Given the description of an element on the screen output the (x, y) to click on. 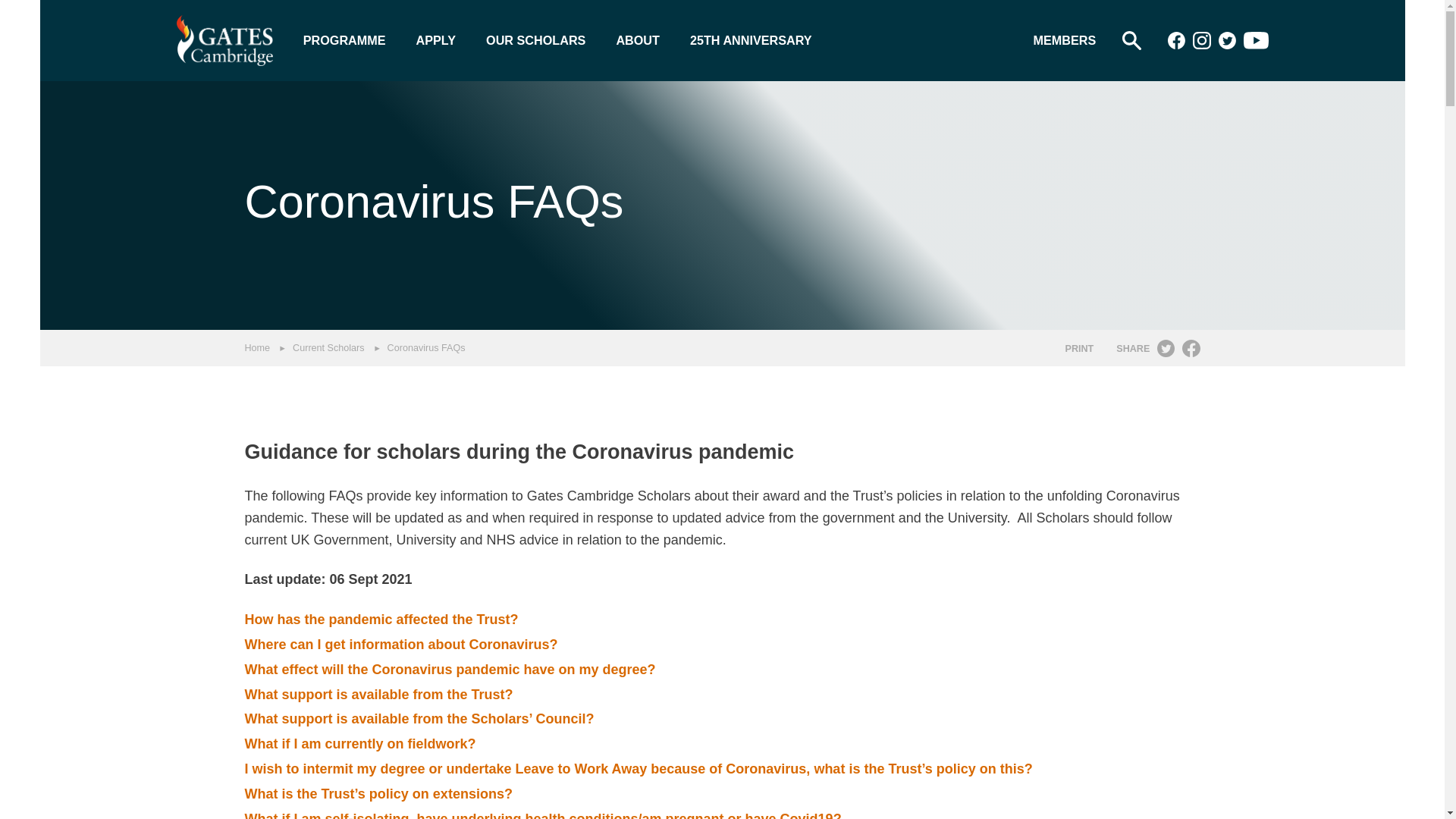
What support is available from the Trust? (378, 694)
Skip to What support is available from the Trust? (378, 694)
PRINT (1078, 349)
25TH ANNIVERSARY (751, 39)
Coronavirus FAQs (426, 347)
ABOUT (637, 39)
What if I am currently on fieldwork? (360, 743)
MEMBERS (1064, 39)
Skip to Where can I get information about Coronavirus? (400, 644)
